Given the description of an element on the screen output the (x, y) to click on. 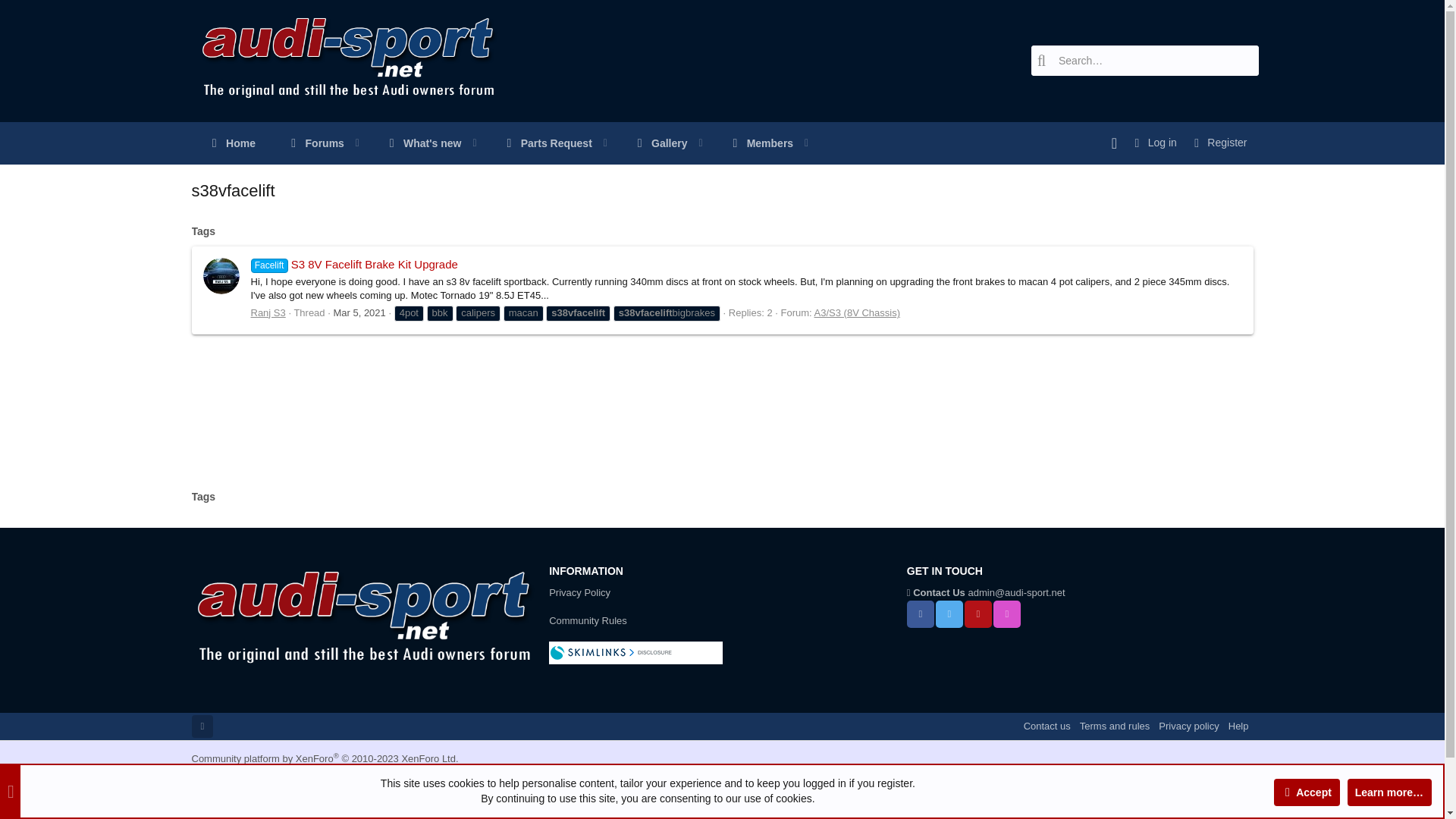
Follow us! (920, 614)
Home (229, 143)
What's new (415, 143)
Gallery (651, 143)
Follow us! (977, 614)
Forums (308, 143)
Mar 5, 2021 at 11:09 PM (359, 312)
Follow us! (503, 143)
